Given the description of an element on the screen output the (x, y) to click on. 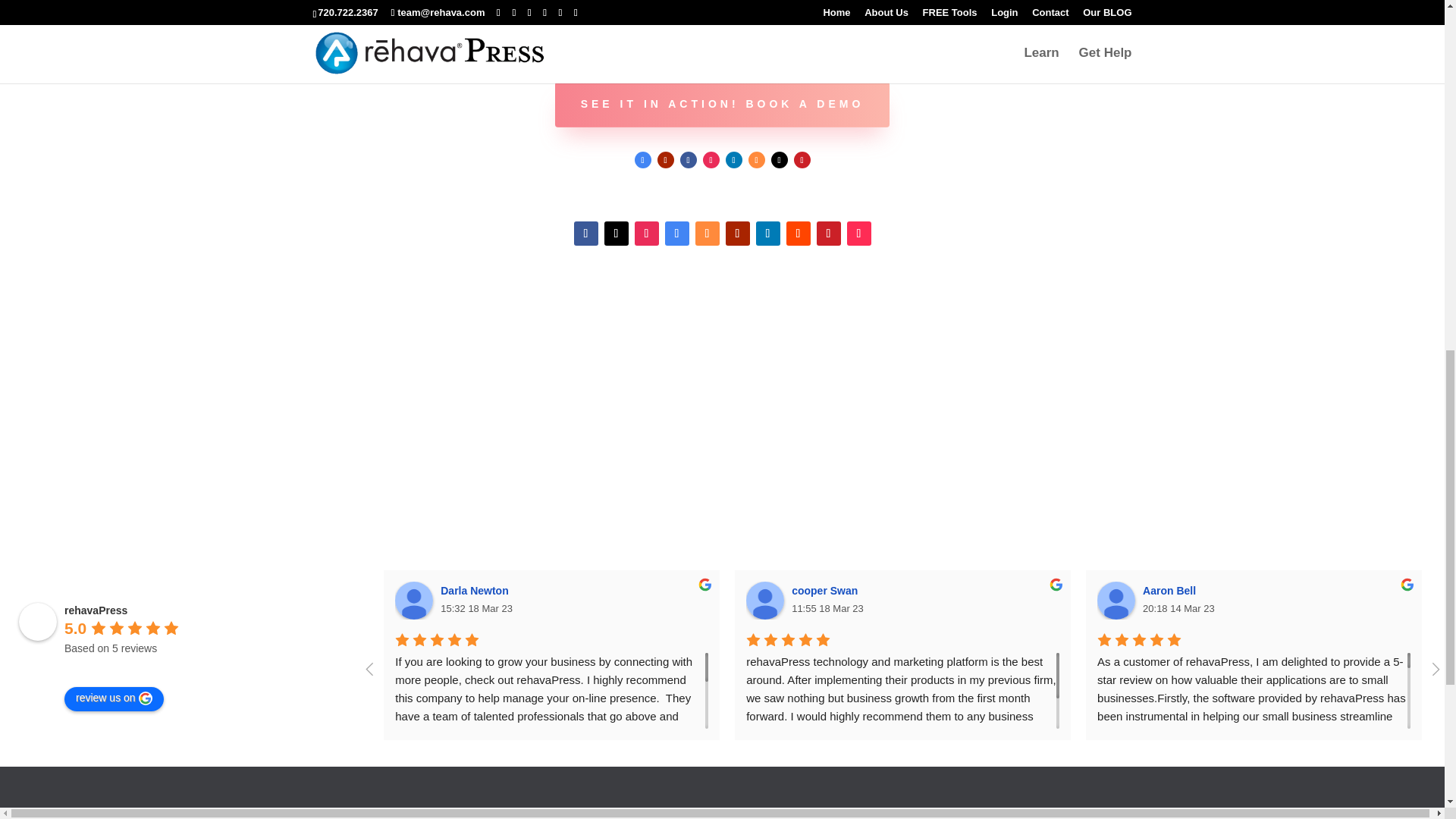
Follow on Pinterest (801, 159)
Follow on Facebook (687, 159)
Follow on Youtube (664, 159)
Follow on Instagram (710, 159)
Follow on LinkedIn (733, 159)
Follow on X (615, 233)
Follow on Google (675, 233)
Follow on X (778, 159)
SEE IT IN ACTION! BOOK A DEMO (721, 104)
Follow on Facebook (584, 233)
